Given the description of an element on the screen output the (x, y) to click on. 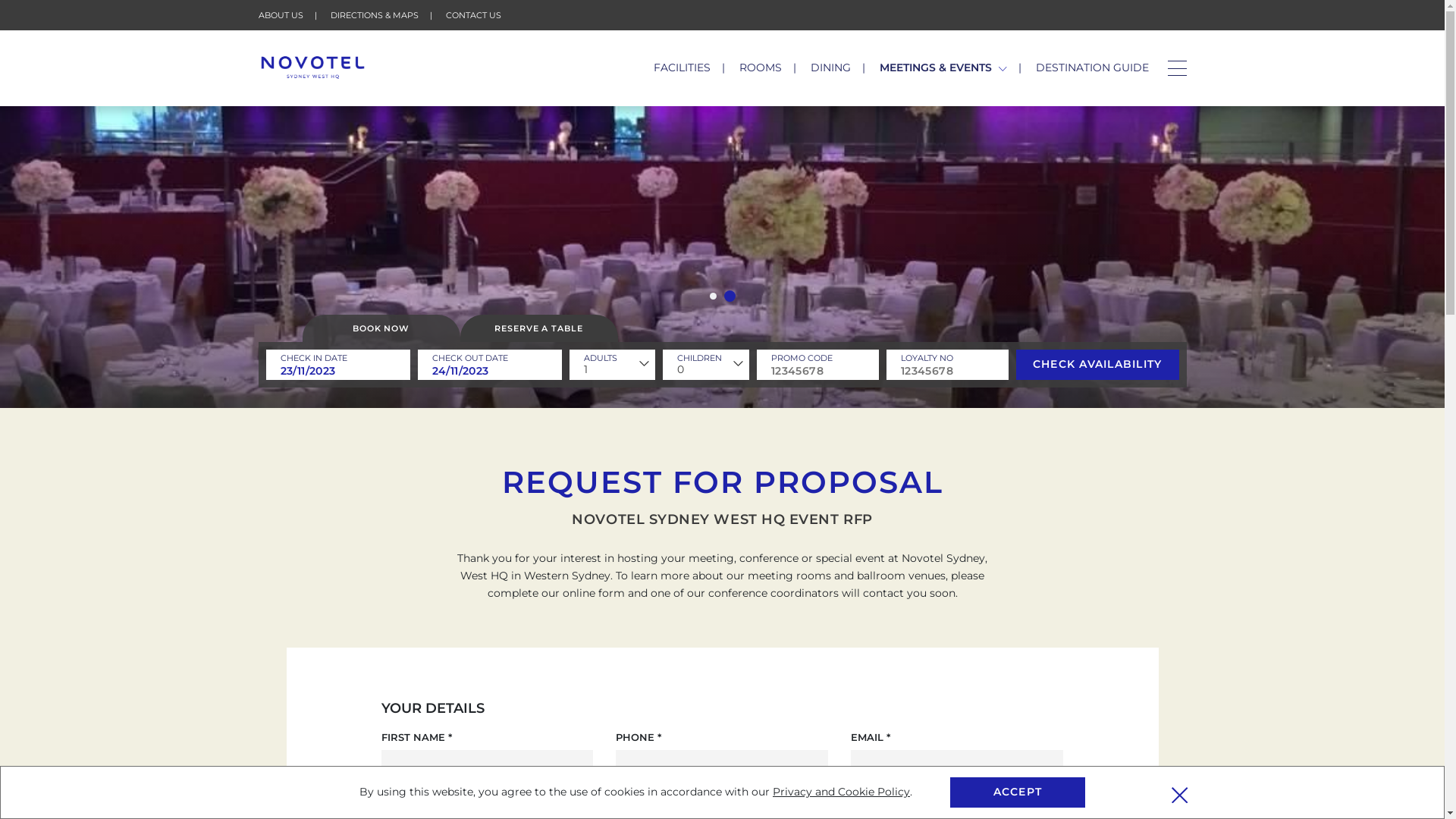
Privacy and Cookie Policy
Opens in a new tab. Element type: text (841, 791)
DESTINATION GUIDE Element type: text (1091, 67)
ROOMS Element type: text (760, 67)
RESERVE A TABLE Element type: text (538, 328)
ACCEPT Element type: text (1017, 792)
BOOK NOW Element type: text (380, 328)
CONTACT US Element type: text (473, 14)
MEETINGS & EVENTS Element type: text (943, 67)
DINING Element type: text (830, 67)
FACILITIES Element type: text (681, 67)
CHECK AVAILABILITY Element type: text (1097, 364)
DIRECTIONS & MAPS Element type: text (374, 14)
ABOUT US Element type: text (279, 14)
